Given the description of an element on the screen output the (x, y) to click on. 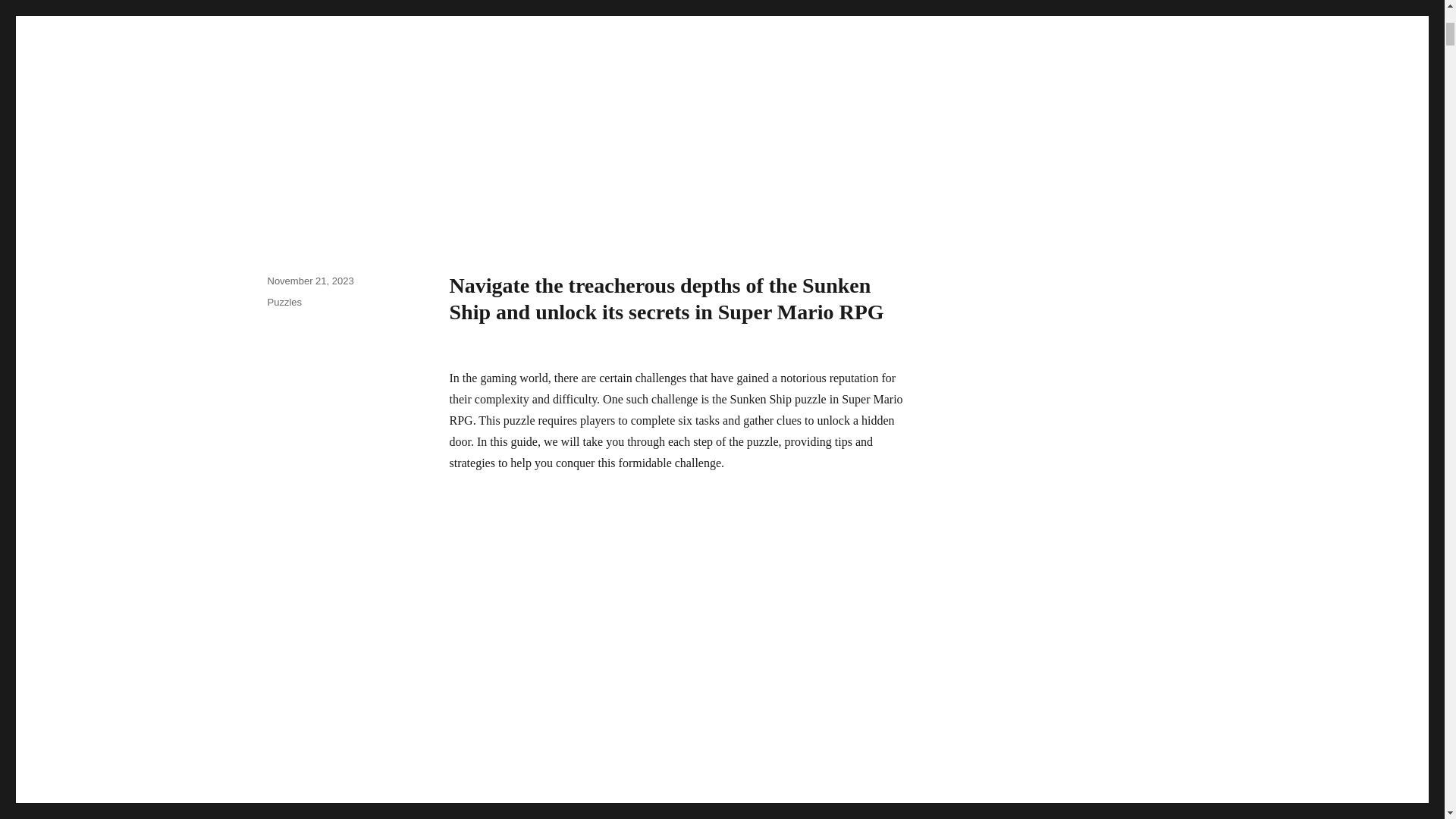
Puzzles (283, 301)
November 21, 2023 (309, 280)
